Given the description of an element on the screen output the (x, y) to click on. 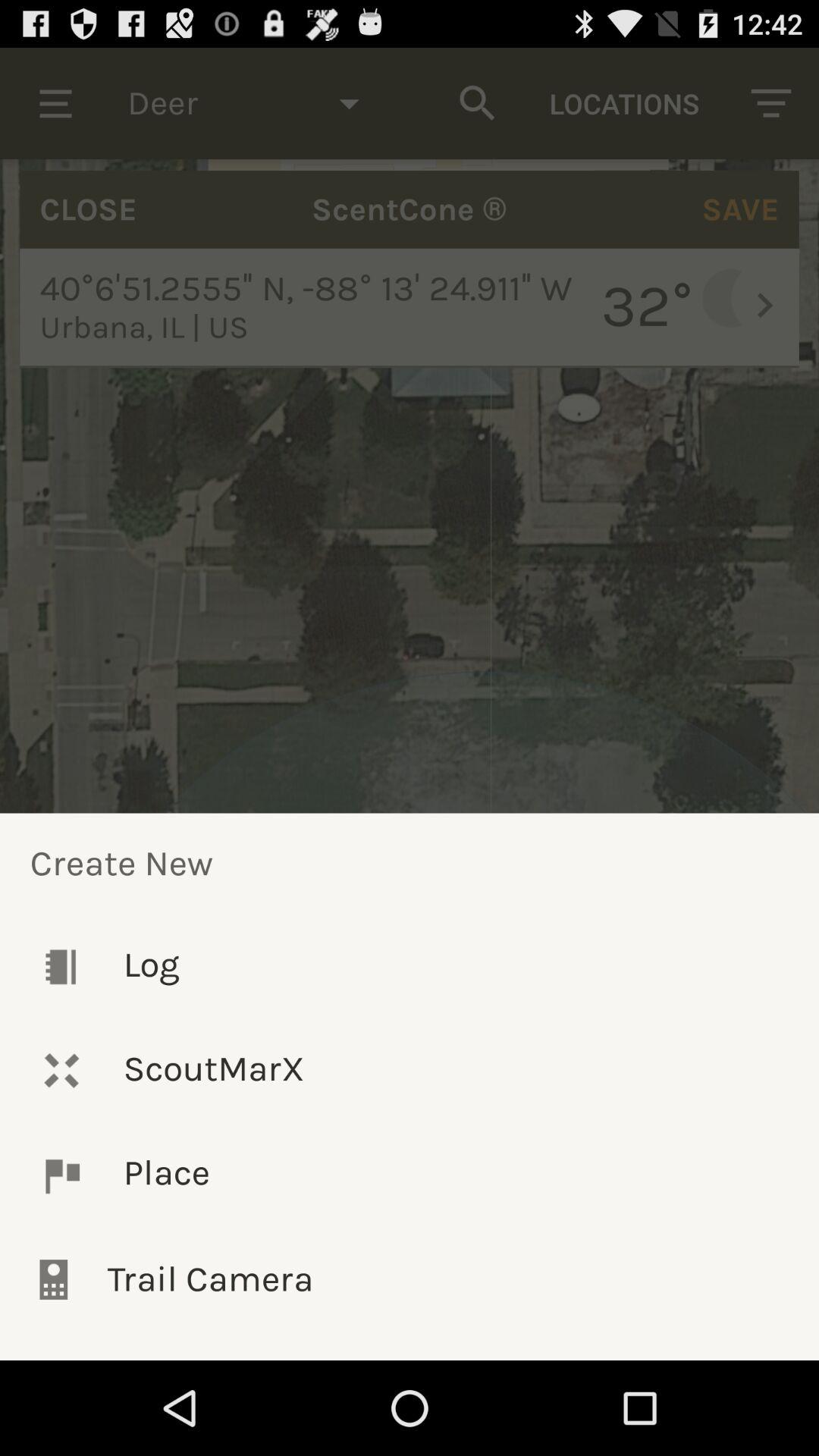
swipe until scoutmarx (409, 1070)
